Given the description of an element on the screen output the (x, y) to click on. 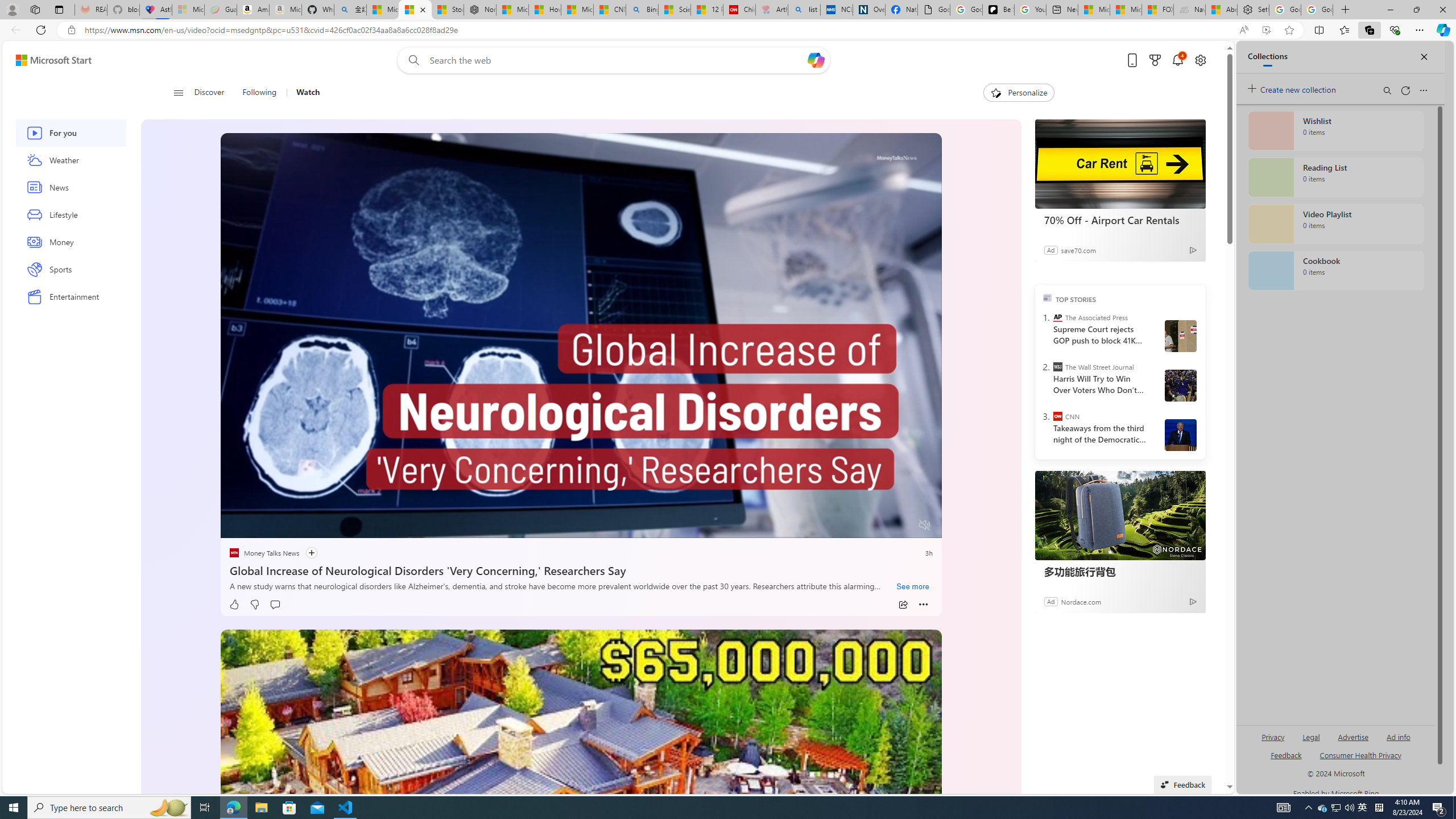
Captions (880, 525)
